Given the description of an element on the screen output the (x, y) to click on. 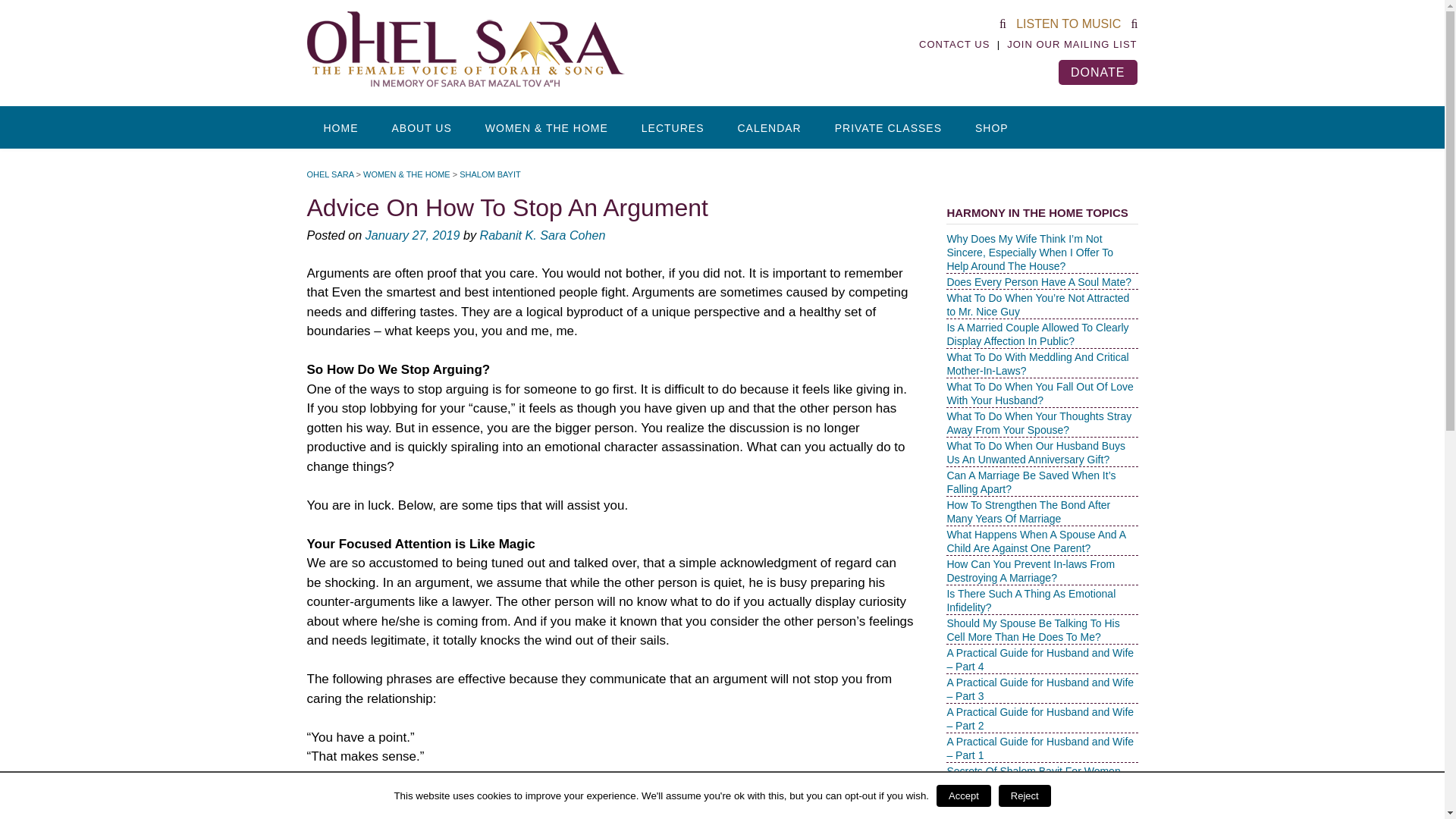
What To Do With Meddling And Critical Mother-In-Laws? (1037, 363)
What To Do When You Fall Out Of Love With Your Husband? (1039, 393)
Does Every Person Have A Soul Mate? (1038, 282)
HOME (339, 127)
LECTURES (672, 127)
SHOP (991, 127)
CONTACT US (954, 43)
Go to Ohel Sara. (329, 174)
OHEL SARA (329, 174)
JOIN OUR MAILING LIST (1072, 43)
SHALOM BAYIT (489, 174)
   LISTEN TO MUSIC    (1068, 23)
CALENDAR (768, 127)
January 27, 2019 (412, 234)
